Given the description of an element on the screen output the (x, y) to click on. 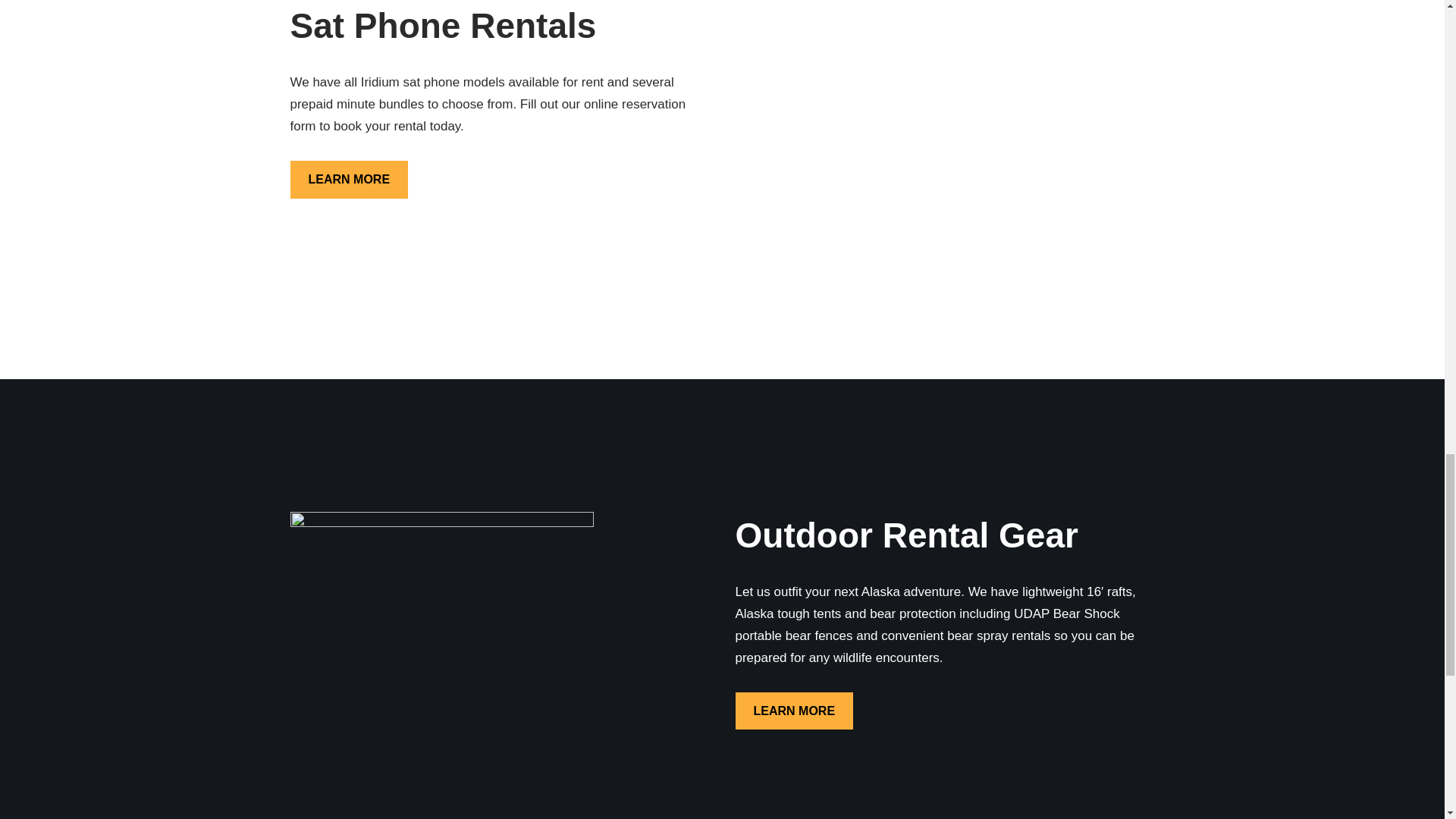
LEARN MORE (794, 711)
LEARN MORE (348, 179)
